Given the description of an element on the screen output the (x, y) to click on. 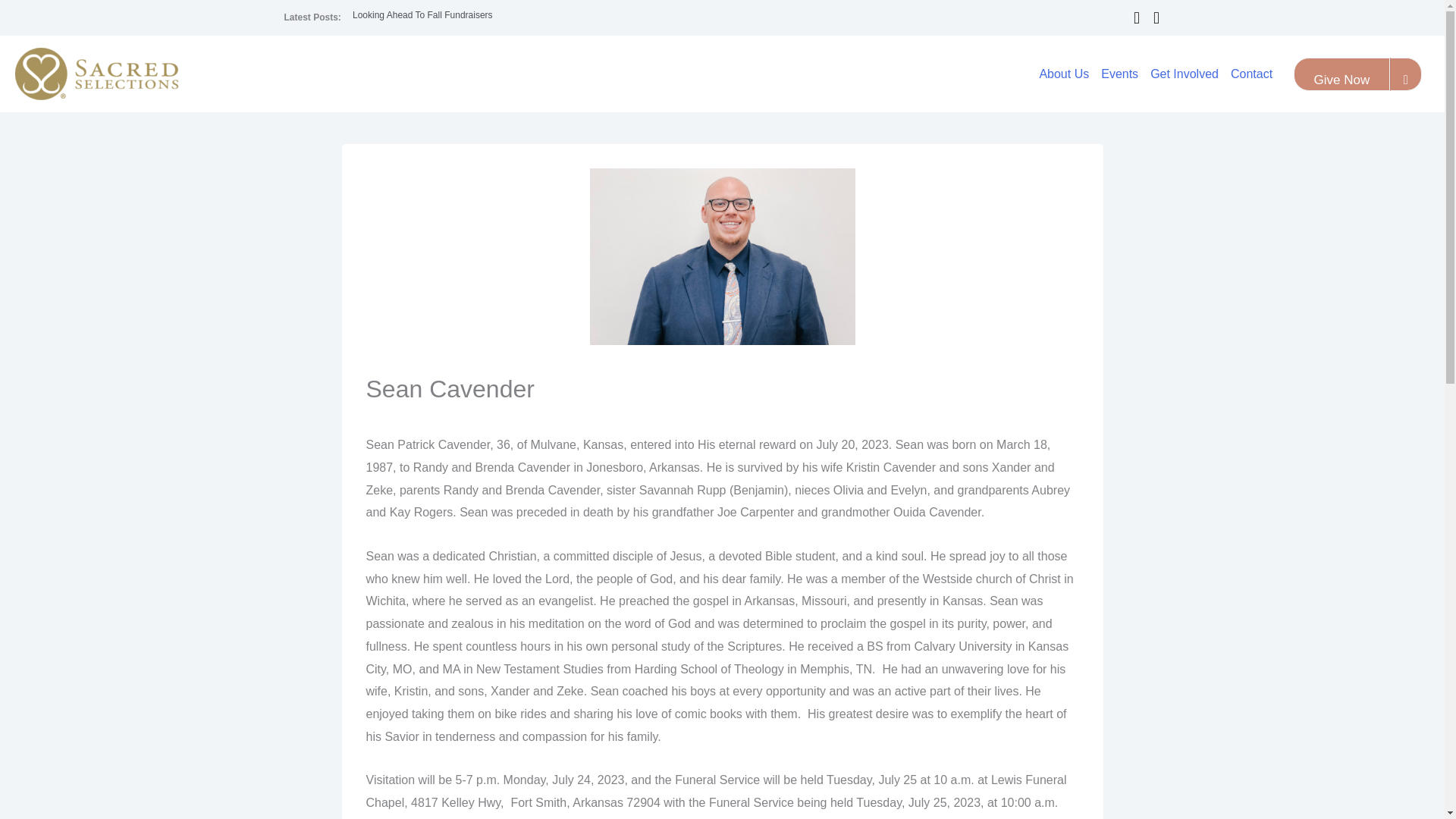
Give Now (1342, 79)
Get Involved (1184, 74)
Give Now (1342, 73)
Looking Ahead To Fall Fundraisers (422, 14)
About Us (1063, 74)
